Given the description of an element on the screen output the (x, y) to click on. 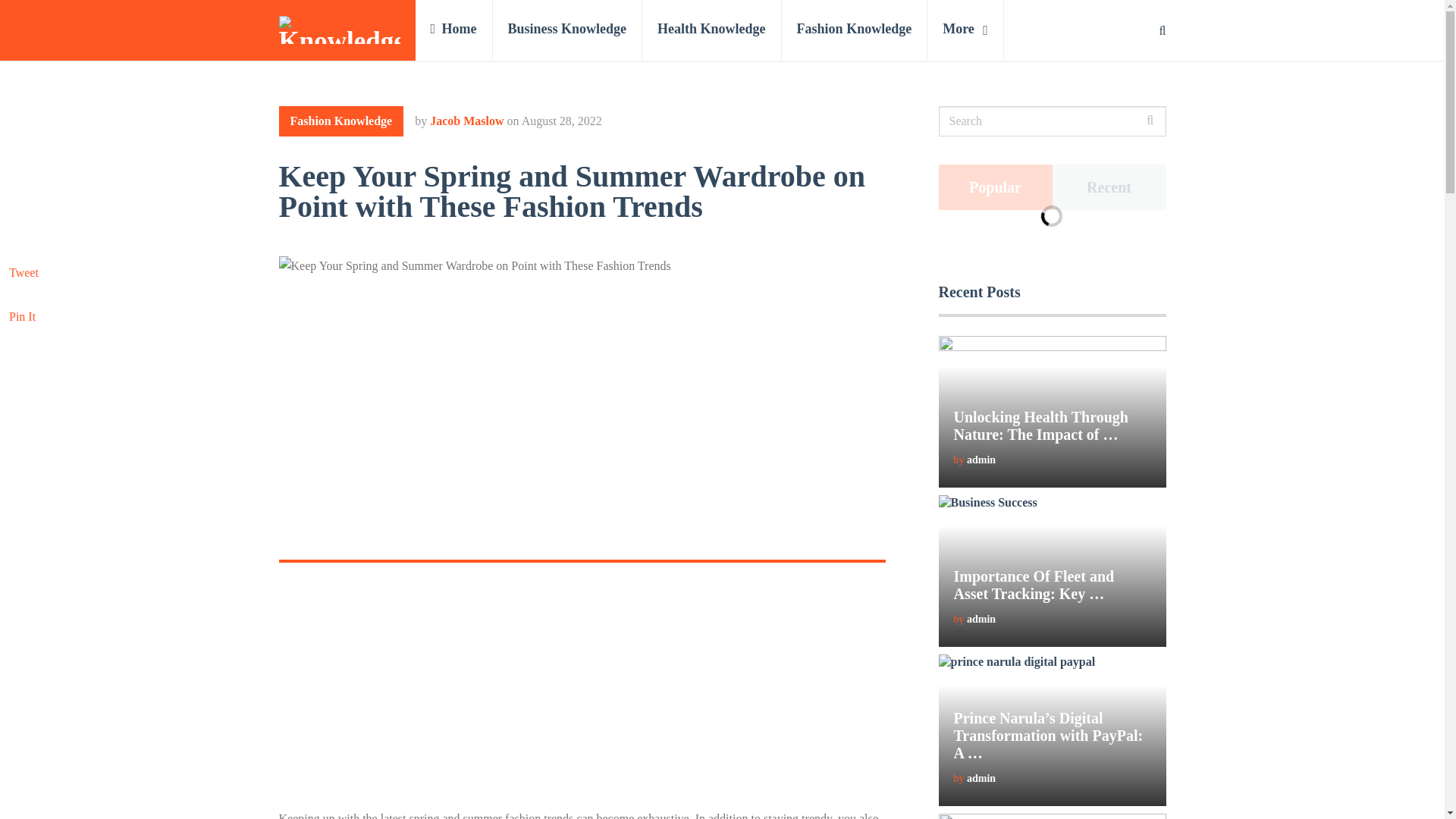
Fashion Knowledge (341, 121)
View all posts in Fashion Knowledge (341, 121)
Jacob Maslow (466, 120)
Business Knowledge (568, 30)
Fashion Knowledge (854, 30)
Home (453, 30)
Popular (995, 186)
Posts by Jacob Maslow (466, 120)
Advertisement (582, 694)
Pin It (21, 316)
